Given the description of an element on the screen output the (x, y) to click on. 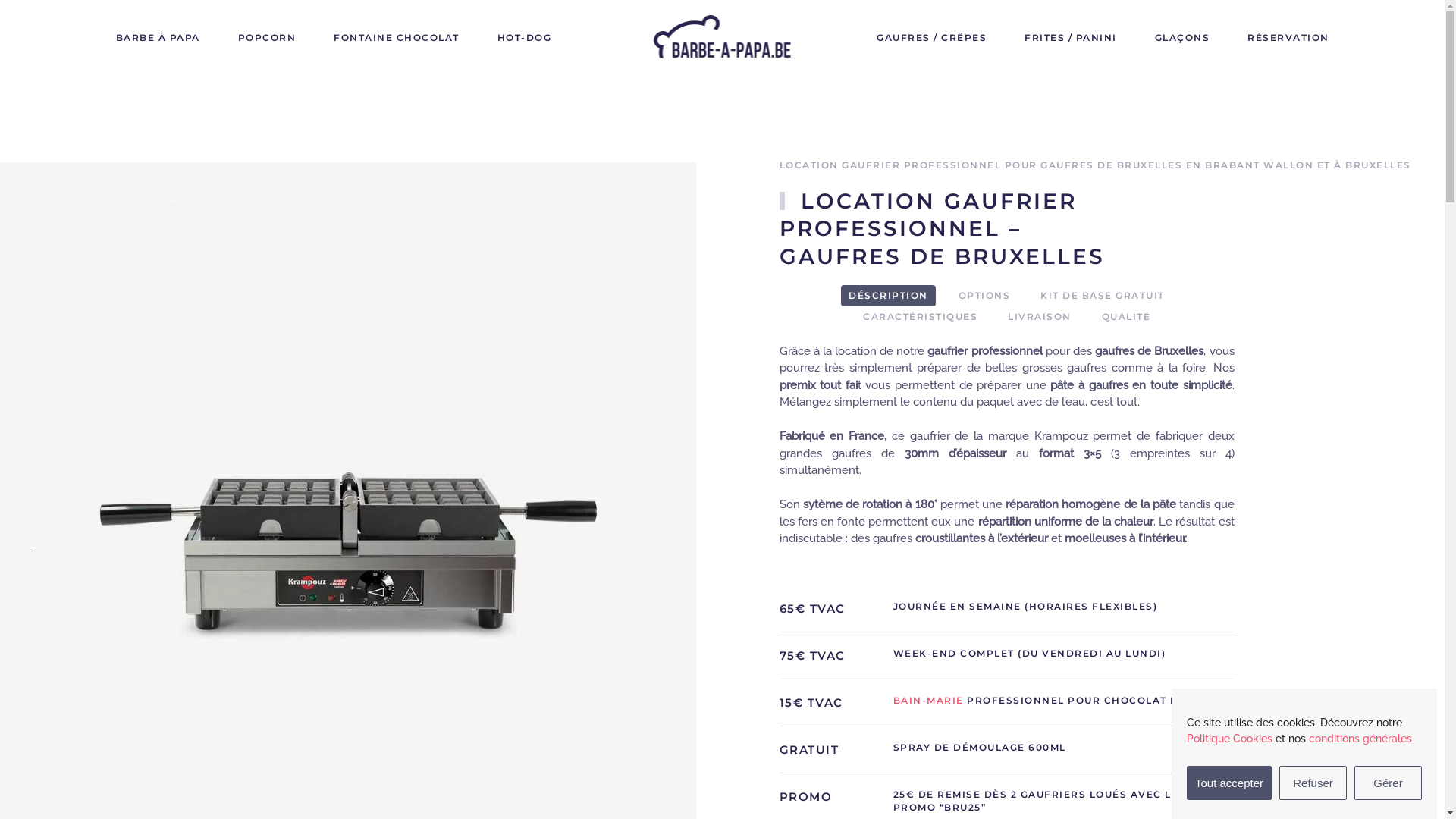
Tout accepter Element type: text (1228, 782)
Refuser Element type: text (1312, 782)
KIT DE BASE GRATUIT Element type: text (1102, 295)
FRITES / PANINI Element type: text (1070, 37)
BAIN-MARIE Element type: text (928, 700)
HOT-DOG Element type: text (524, 37)
OPTIONS Element type: text (984, 295)
Politique Cookies Element type: text (1229, 738)
POPCORN Element type: text (267, 37)
LIVRAISON Element type: text (1039, 316)
FONTAINE CHOCOLAT Element type: text (396, 37)
